Given the description of an element on the screen output the (x, y) to click on. 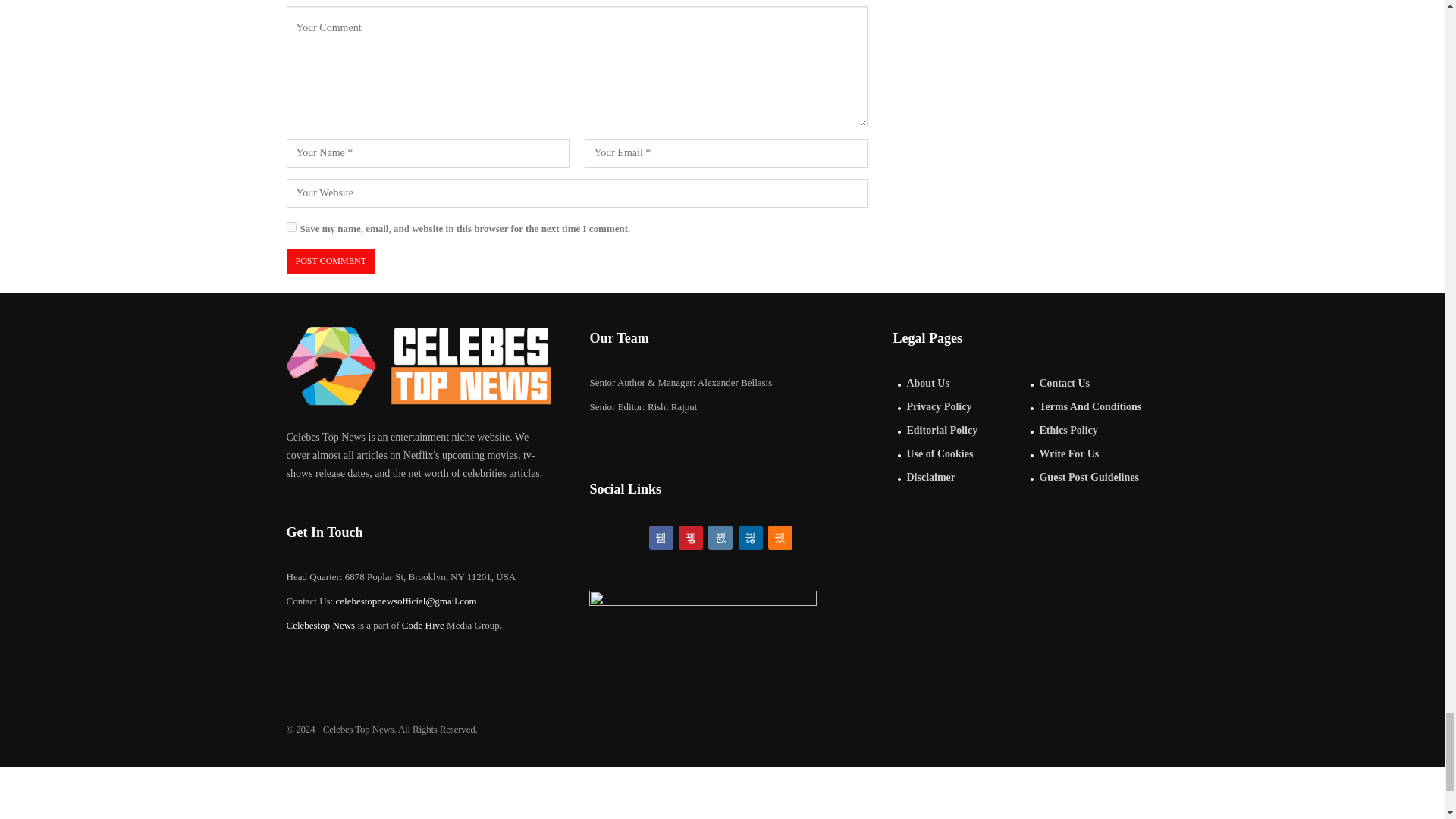
Post Comment (330, 260)
yes (291, 226)
